Given the description of an element on the screen output the (x, y) to click on. 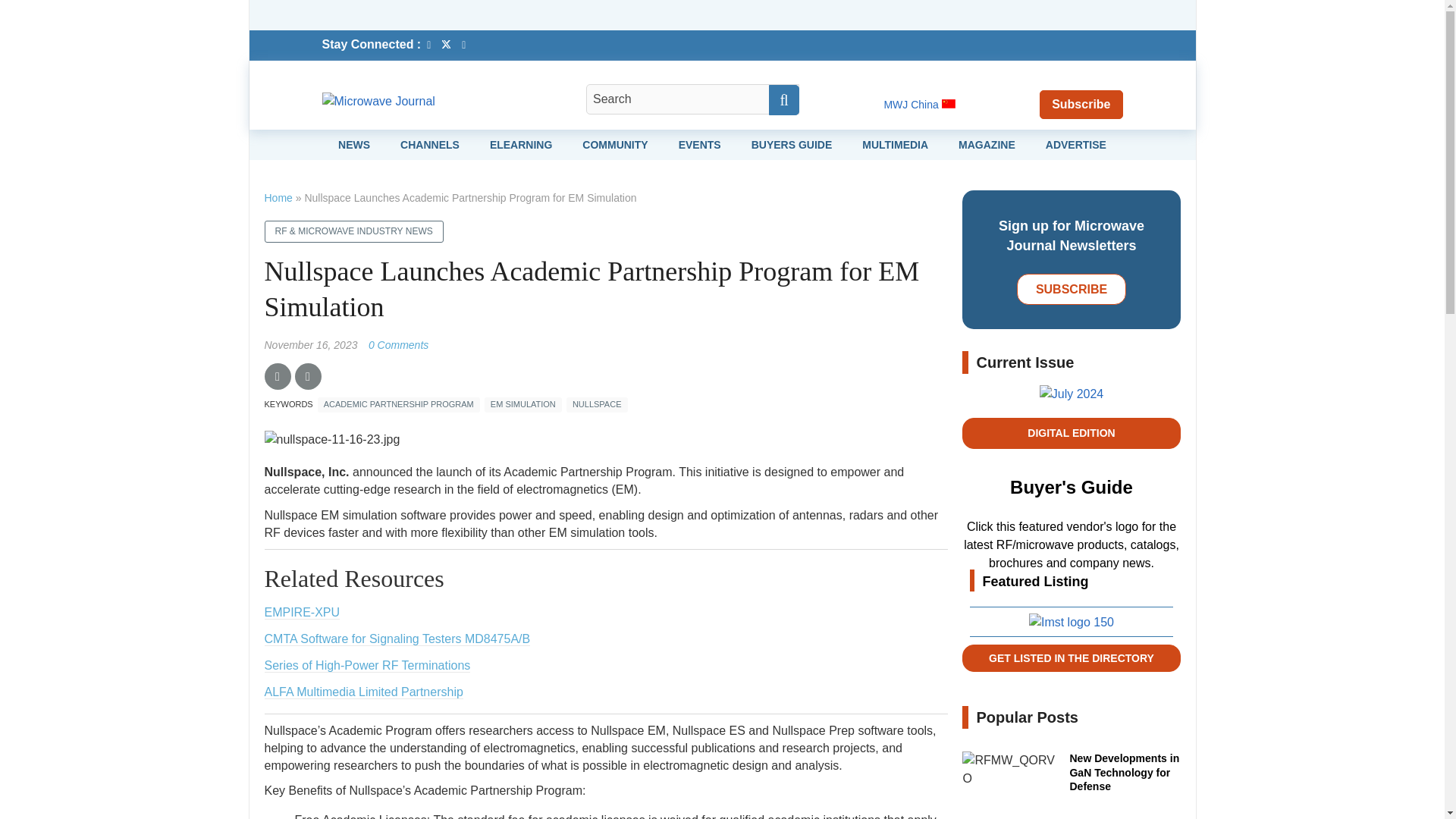
MWJ China (919, 104)
NEWS (353, 144)
ELEARNING (520, 144)
Subscribe (1080, 103)
COMMUNITY (615, 144)
CHANNELS (430, 144)
